Given the description of an element on the screen output the (x, y) to click on. 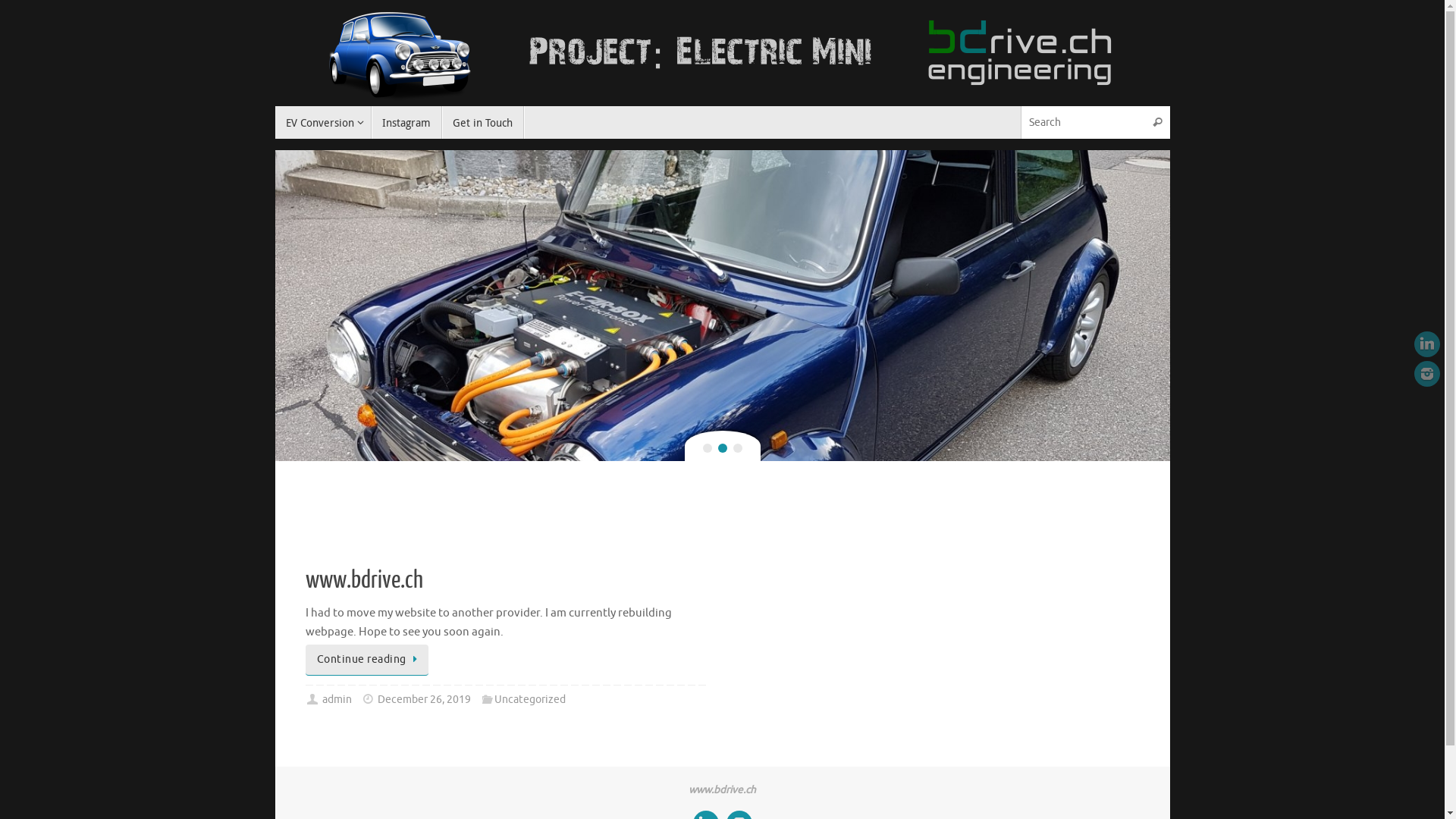
Date Element type: hover (367, 699)
3 Element type: text (736, 447)
Uncategorized Element type: text (529, 699)
Get in Touch Element type: text (483, 122)
admin Element type: text (336, 699)
2 Element type: text (721, 447)
www.bdrive.ch Element type: text (363, 579)
Instagram Element type: text (406, 122)
Author  Element type: hover (311, 699)
Instagram Element type: hover (1427, 373)
Skip to content Element type: text (274, 129)
Categories Element type: hover (487, 699)
LinkedIn Element type: hover (1427, 344)
EV Conversion Element type: text (322, 122)
Search Element type: text (1157, 122)
1 Element type: text (706, 447)
December 26, 2019 Element type: text (423, 699)
Continue reading Element type: text (366, 659)
